Given the description of an element on the screen output the (x, y) to click on. 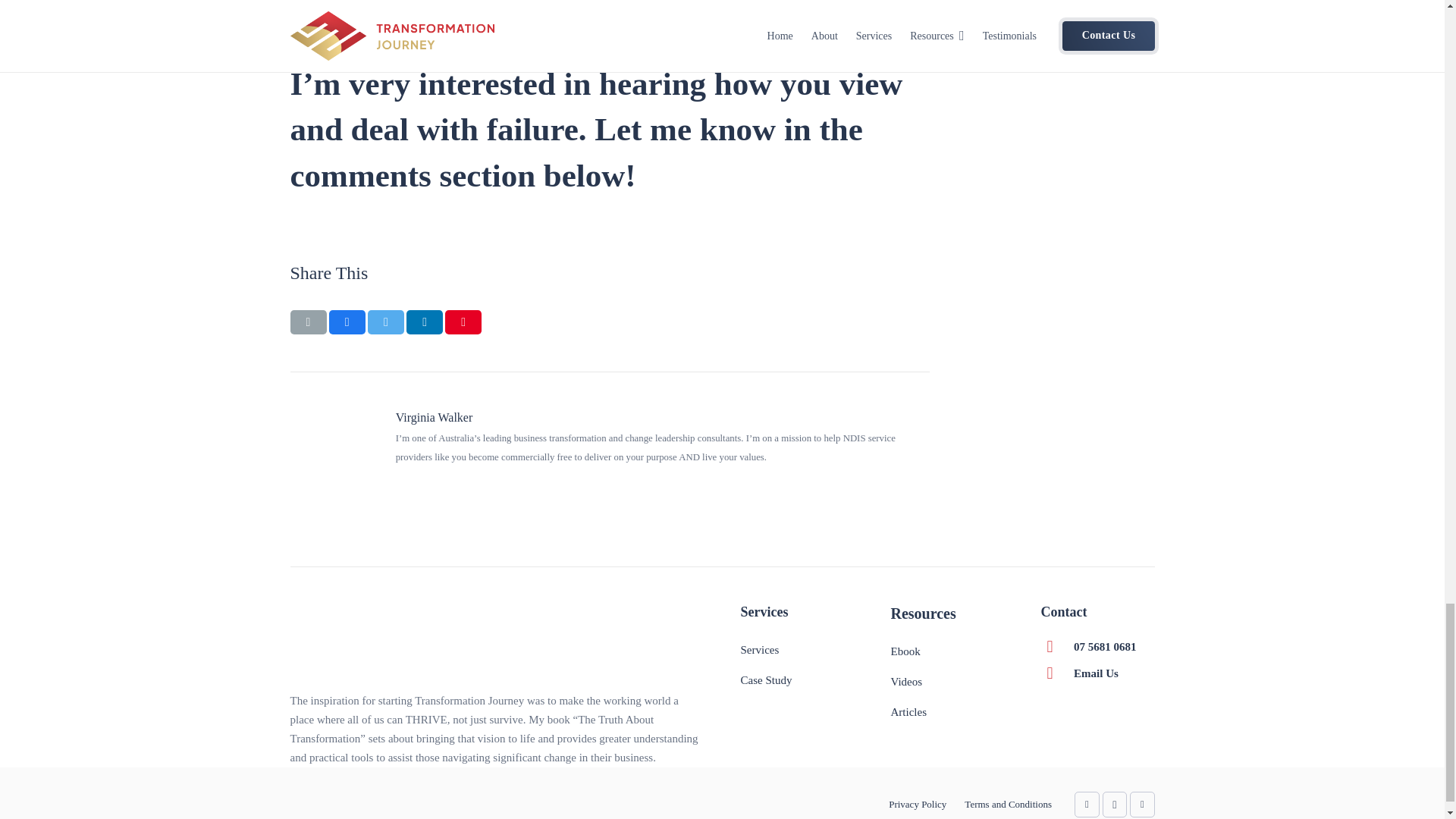
Email this (307, 322)
07 5681 0681 (1105, 646)
Articles (907, 711)
LinkedIn (1086, 804)
Case Study (765, 680)
Videos (905, 681)
Share this (347, 322)
Tweet this (386, 322)
Pin this (463, 322)
YouTube (1141, 804)
Share this (424, 322)
Virginia Walker (663, 416)
Ebook (904, 651)
Instagram (1114, 804)
Services (758, 649)
